Given the description of an element on the screen output the (x, y) to click on. 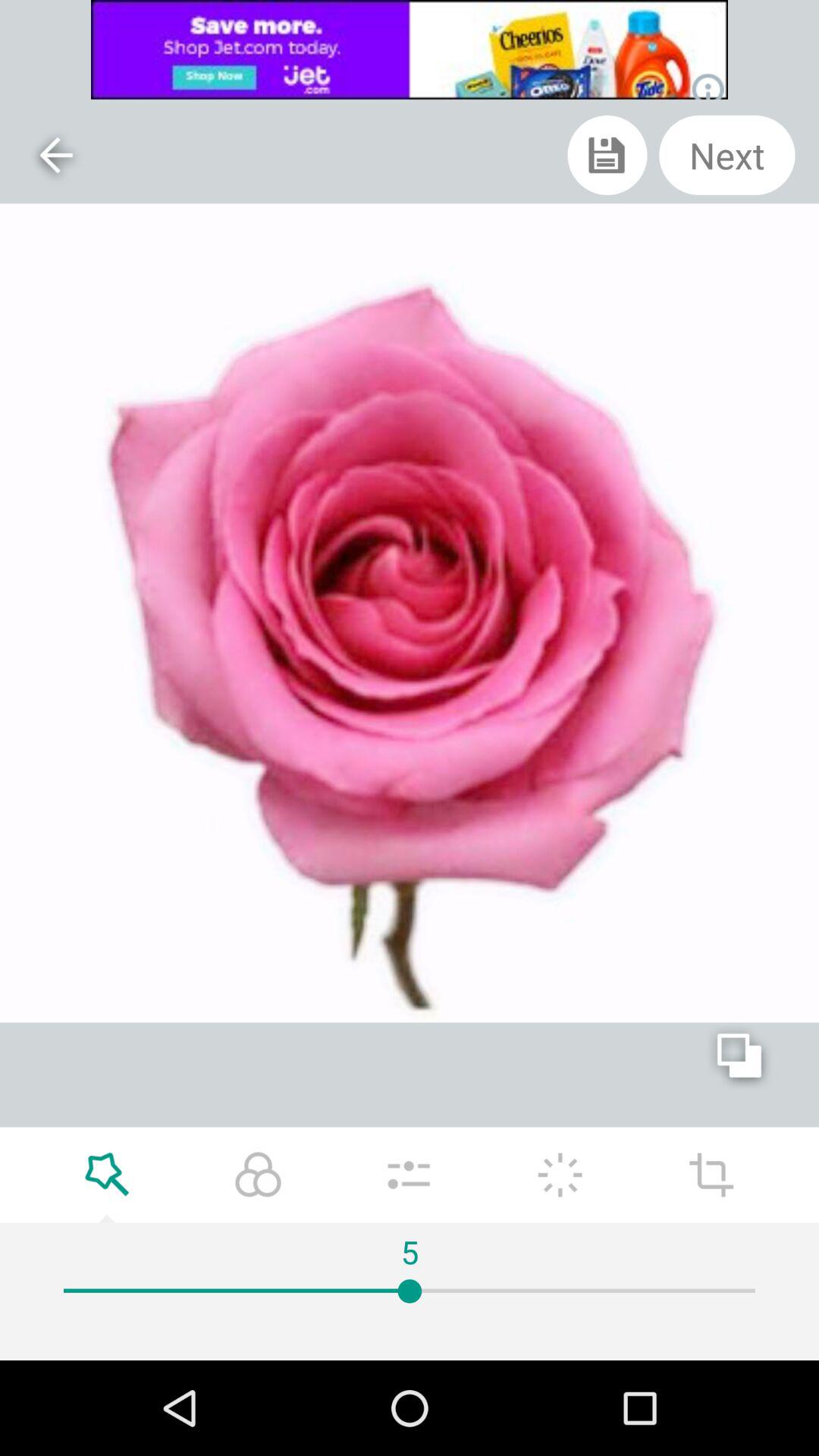
advertisement (409, 49)
